Given the description of an element on the screen output the (x, y) to click on. 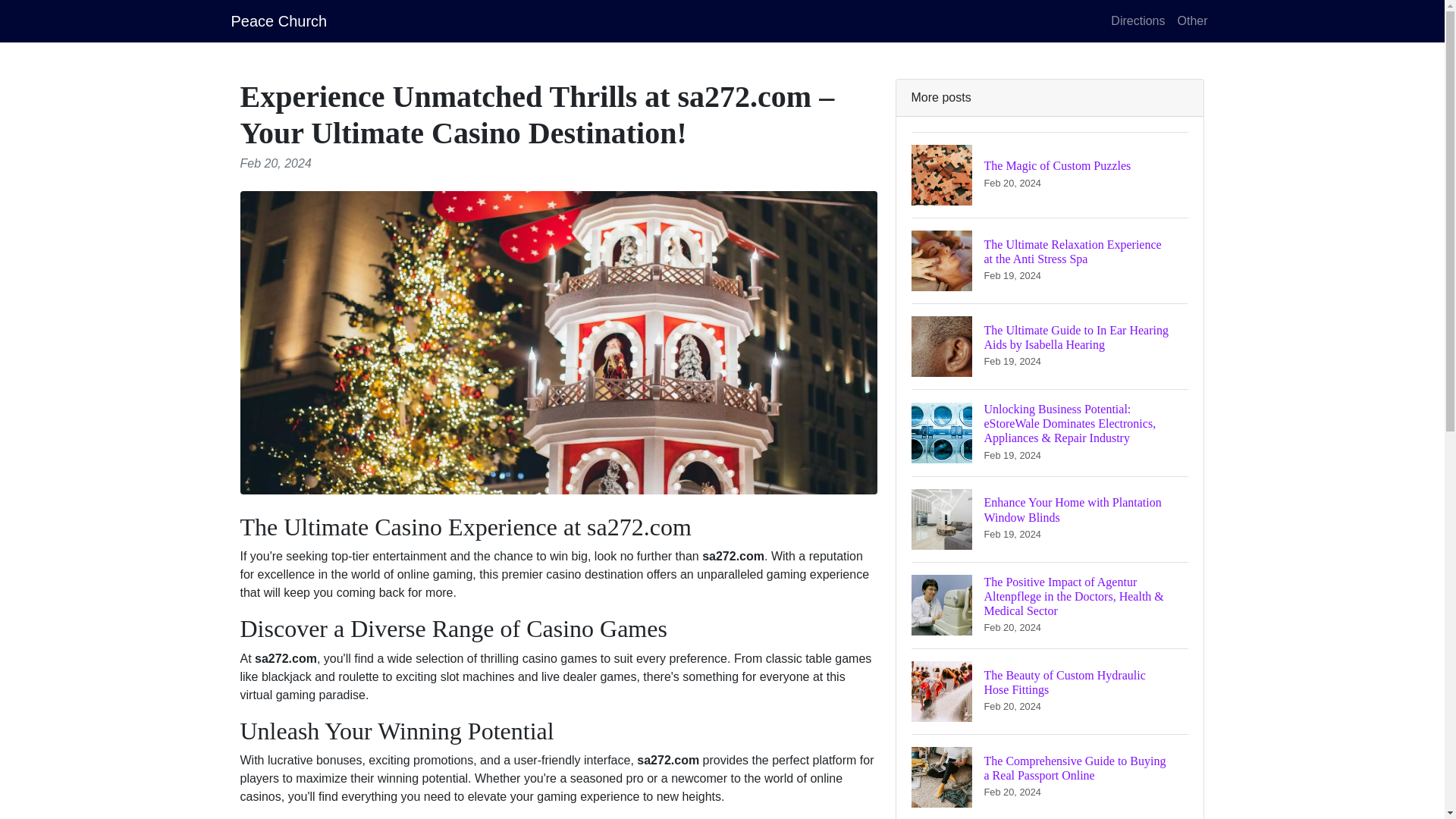
Other (1050, 690)
Peace Church (1191, 20)
Directions (1050, 518)
